Given the description of an element on the screen output the (x, y) to click on. 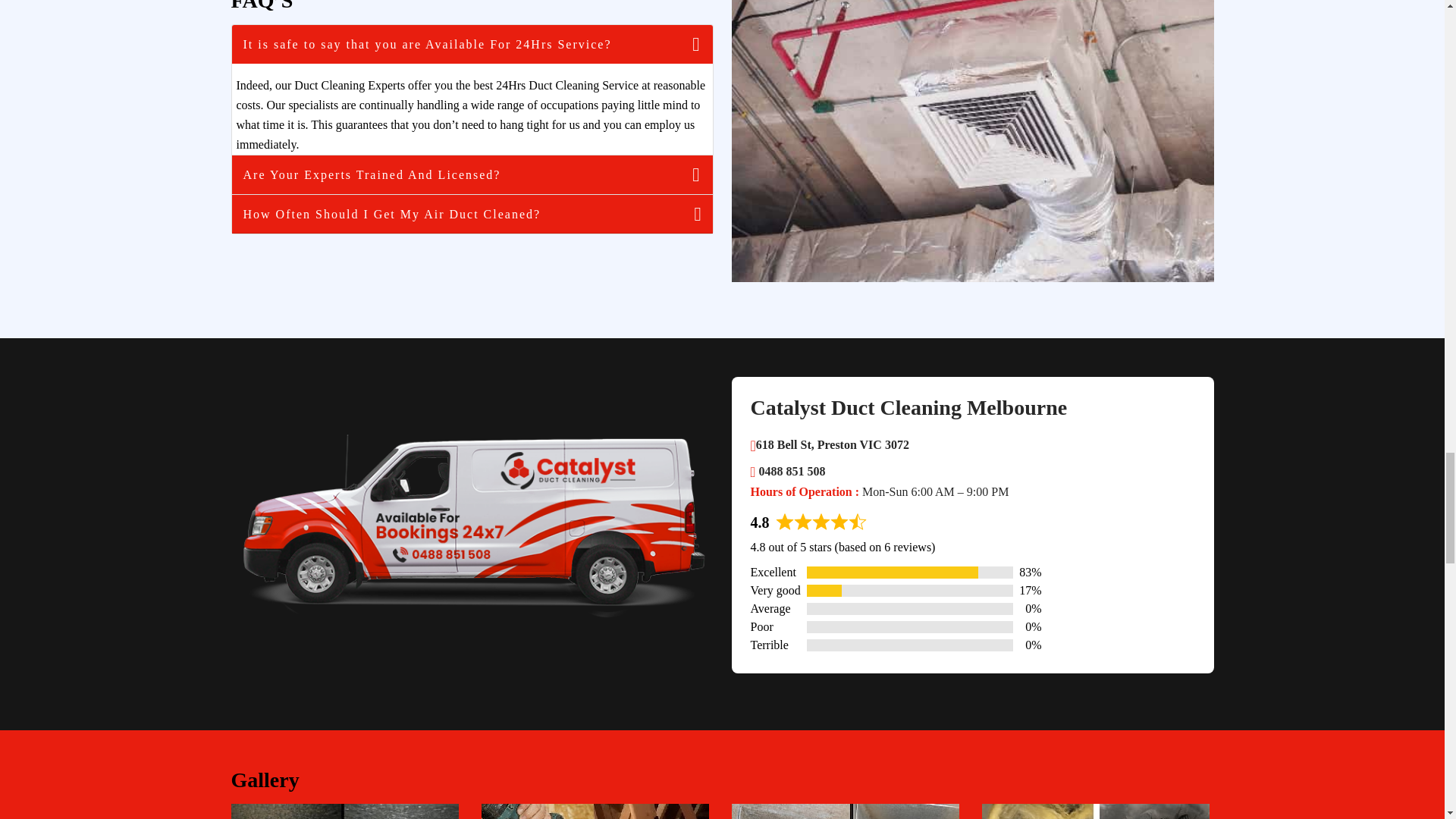
Are Your Experts Trained And Licensed? (472, 174)
0488 851 508 (788, 471)
It is safe to say that you are Available For 24Hrs Service? (472, 44)
How Often Should I Get My Air Duct Cleaned? (472, 213)
